Given the description of an element on the screen output the (x, y) to click on. 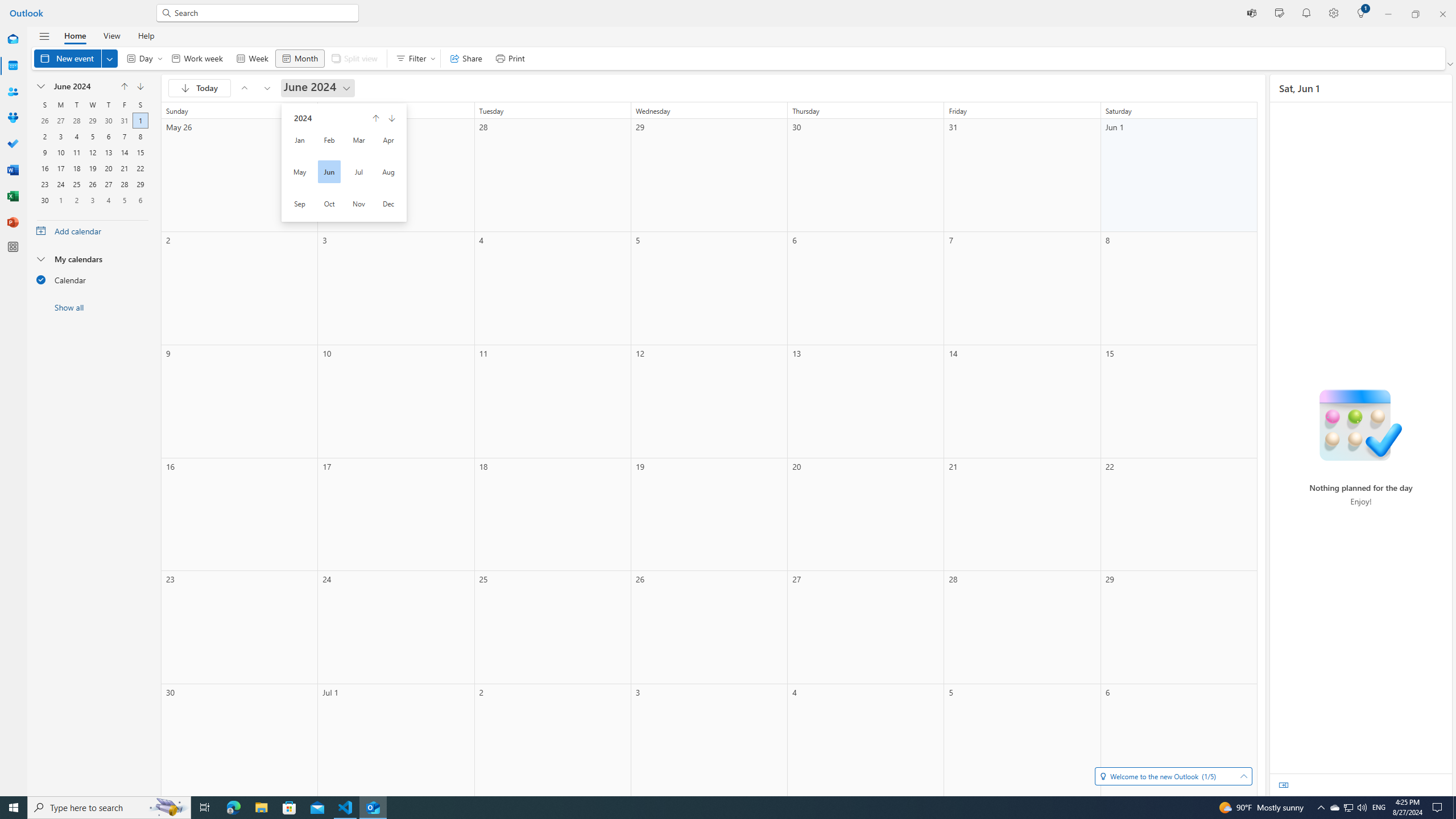
17, June, 2024 (59, 167)
2, June, 2024 (44, 135)
3, June, 2024 (60, 135)
30, May, 2024 (108, 119)
My calendarsCalendar (92, 272)
Ribbon display options (1450, 63)
5, June, 2024 (92, 135)
6, June, 2024 (108, 135)
Expand to see more New options (109, 58)
4, July, 2024 (108, 199)
8, June, 2024 (140, 135)
Toggle agenda pane (1283, 785)
Filter (413, 58)
